Given the description of an element on the screen output the (x, y) to click on. 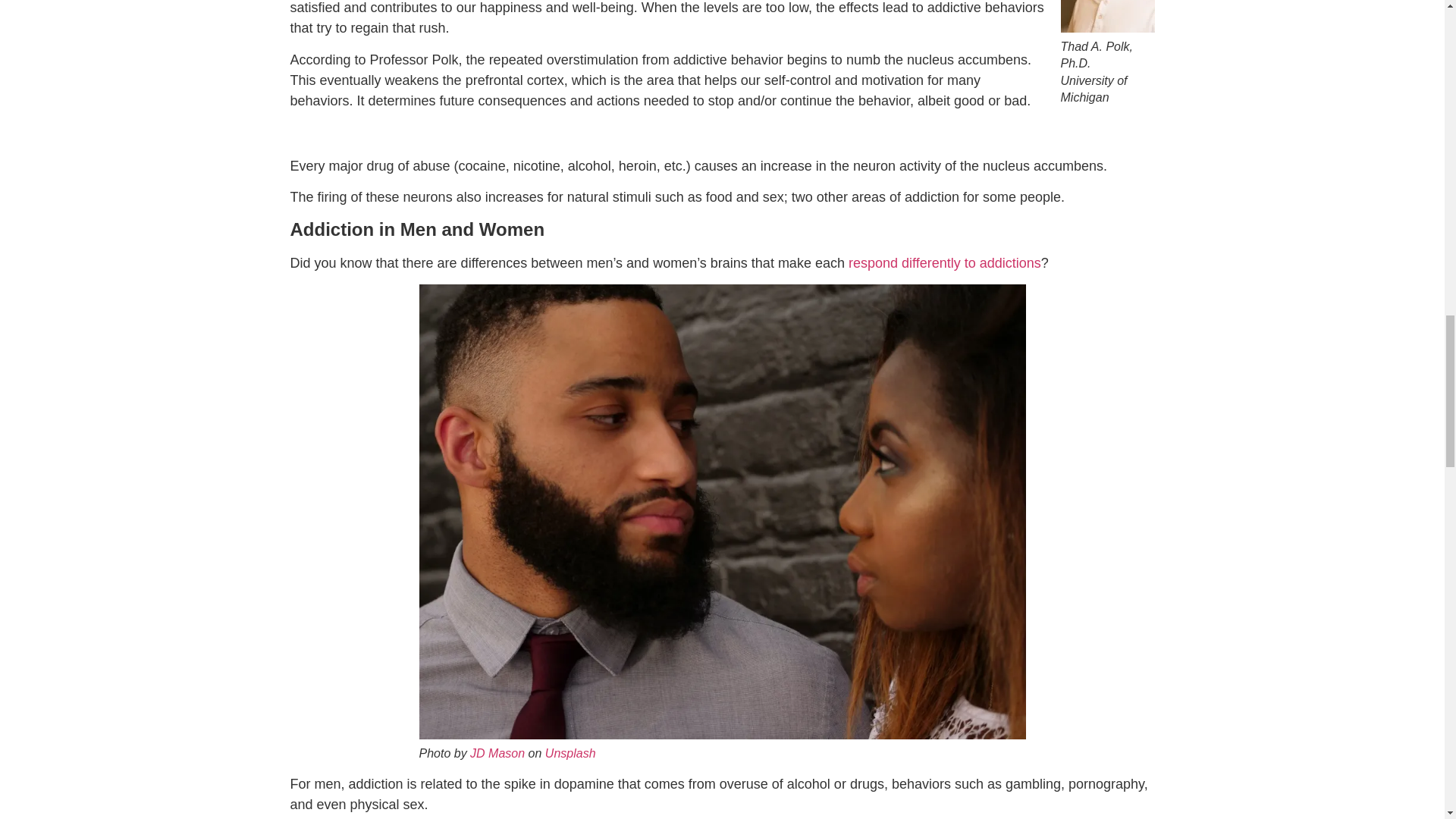
respond differently to addictions (944, 263)
JD Mason (497, 753)
Unsplash (569, 753)
